Given the description of an element on the screen output the (x, y) to click on. 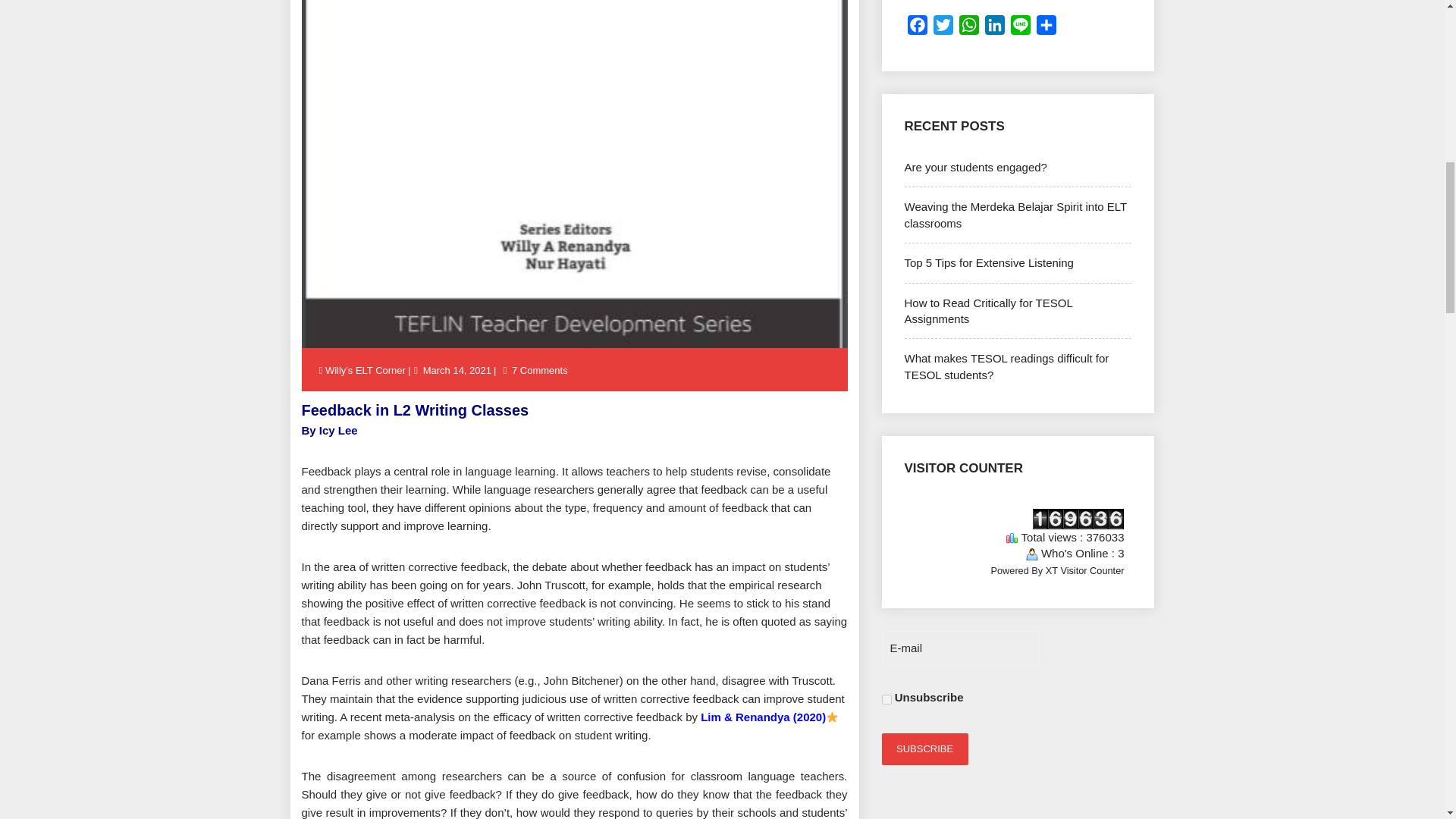
Line (1019, 27)
March 14, 2021 (456, 369)
Twitter (942, 27)
yes (885, 699)
Willy's ELT Corner (365, 369)
WhatsApp (968, 27)
LinkedIn (994, 27)
By Icy Lee (329, 430)
Facebook (917, 27)
Subscribe (924, 748)
